Given the description of an element on the screen output the (x, y) to click on. 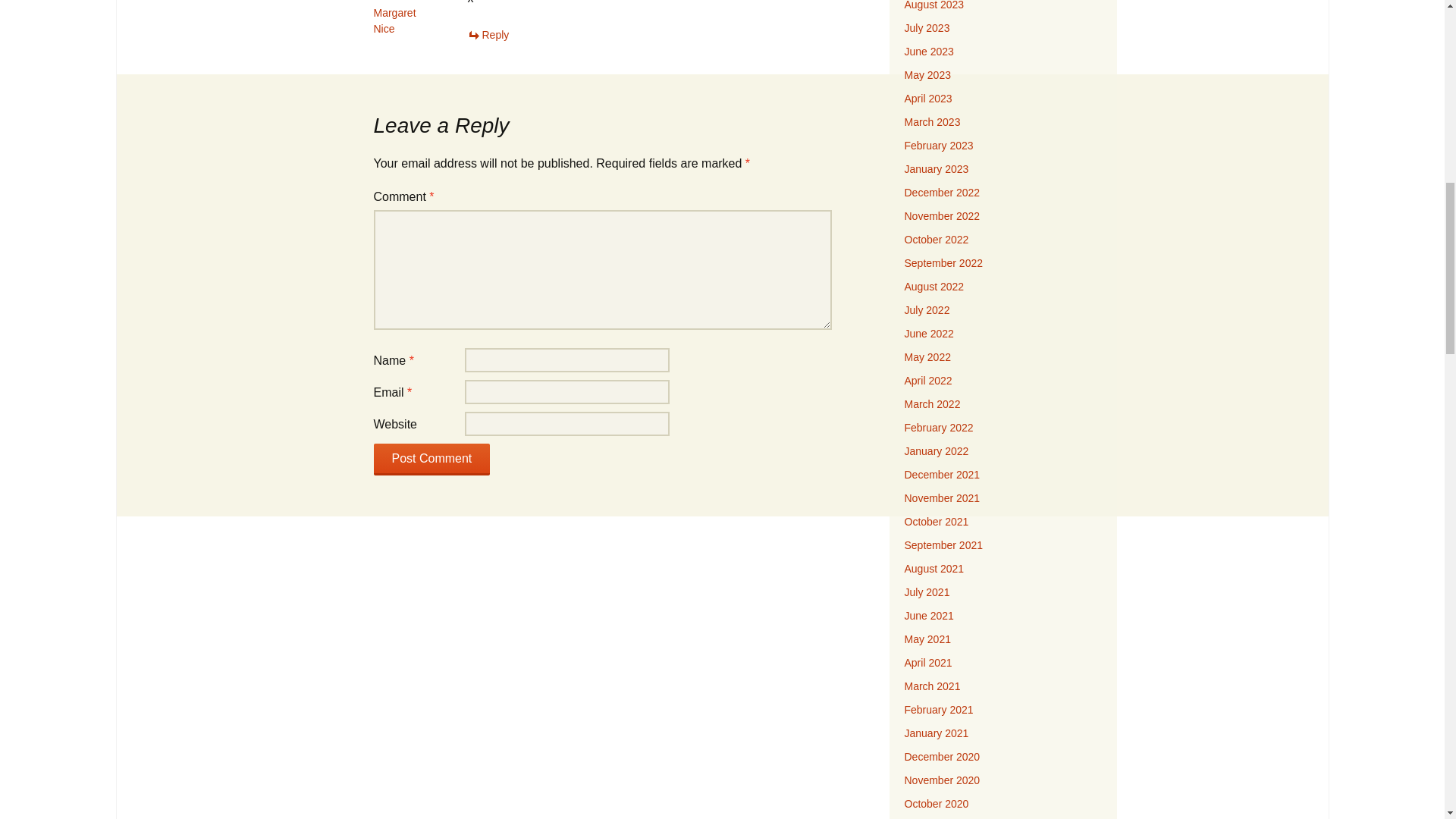
Reply (487, 34)
Post Comment (430, 459)
June 2023 (928, 51)
May 2023 (927, 74)
August 2023 (933, 5)
April 2023 (928, 98)
Post Comment (430, 459)
July 2023 (926, 28)
